Given the description of an element on the screen output the (x, y) to click on. 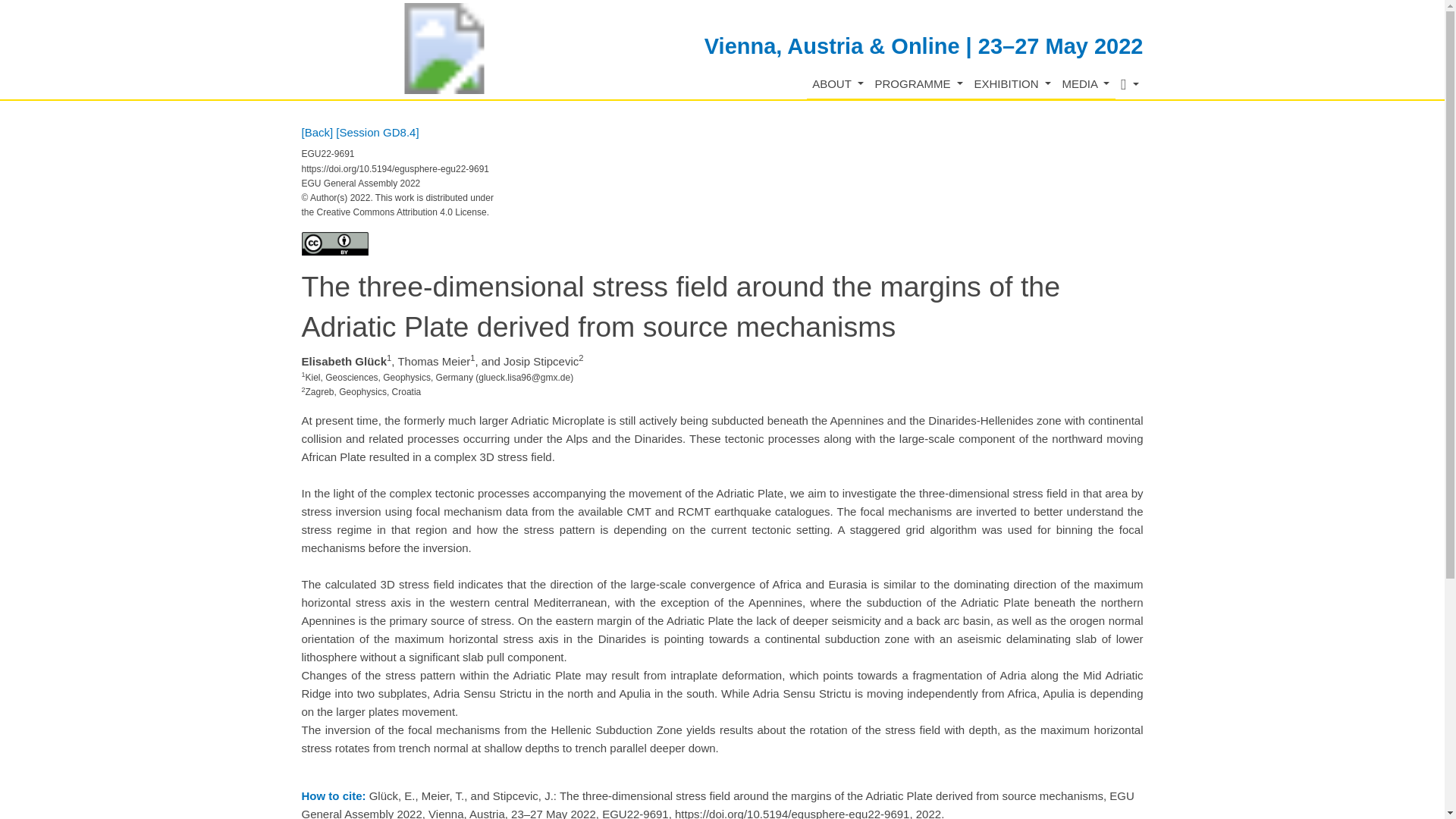
MEDIA (1086, 83)
ABOUT (837, 83)
EXHIBITION (1012, 83)
PROGRAMME (918, 83)
